Given the description of an element on the screen output the (x, y) to click on. 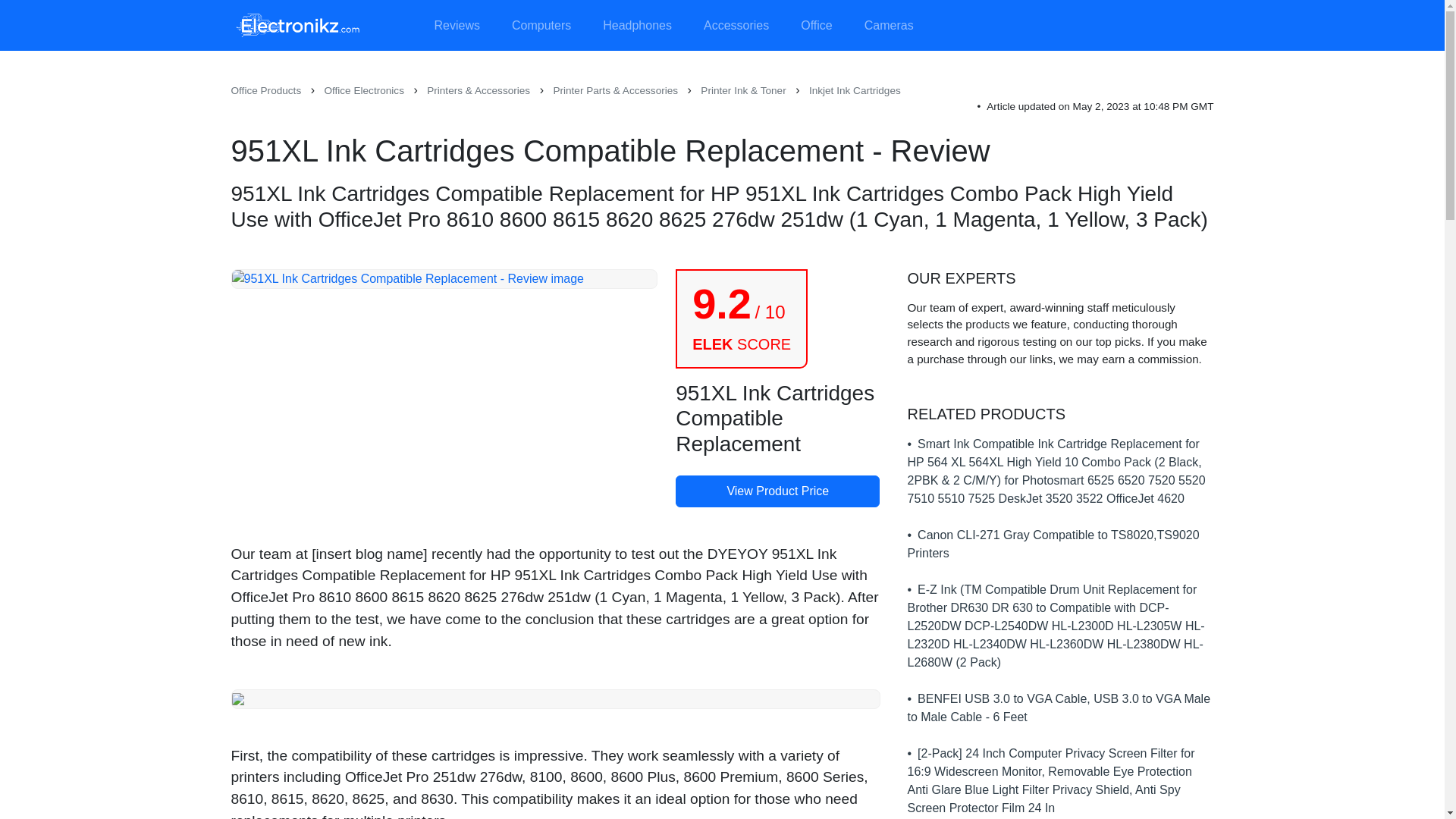
Accessories (735, 25)
Computers (541, 25)
Headphones (637, 25)
Office Electronics (363, 90)
Office (816, 25)
Office Products (265, 90)
Reviews (457, 25)
View Product Price (777, 490)
Cameras (888, 25)
Inkjet Ink Cartridges (855, 90)
